Given the description of an element on the screen output the (x, y) to click on. 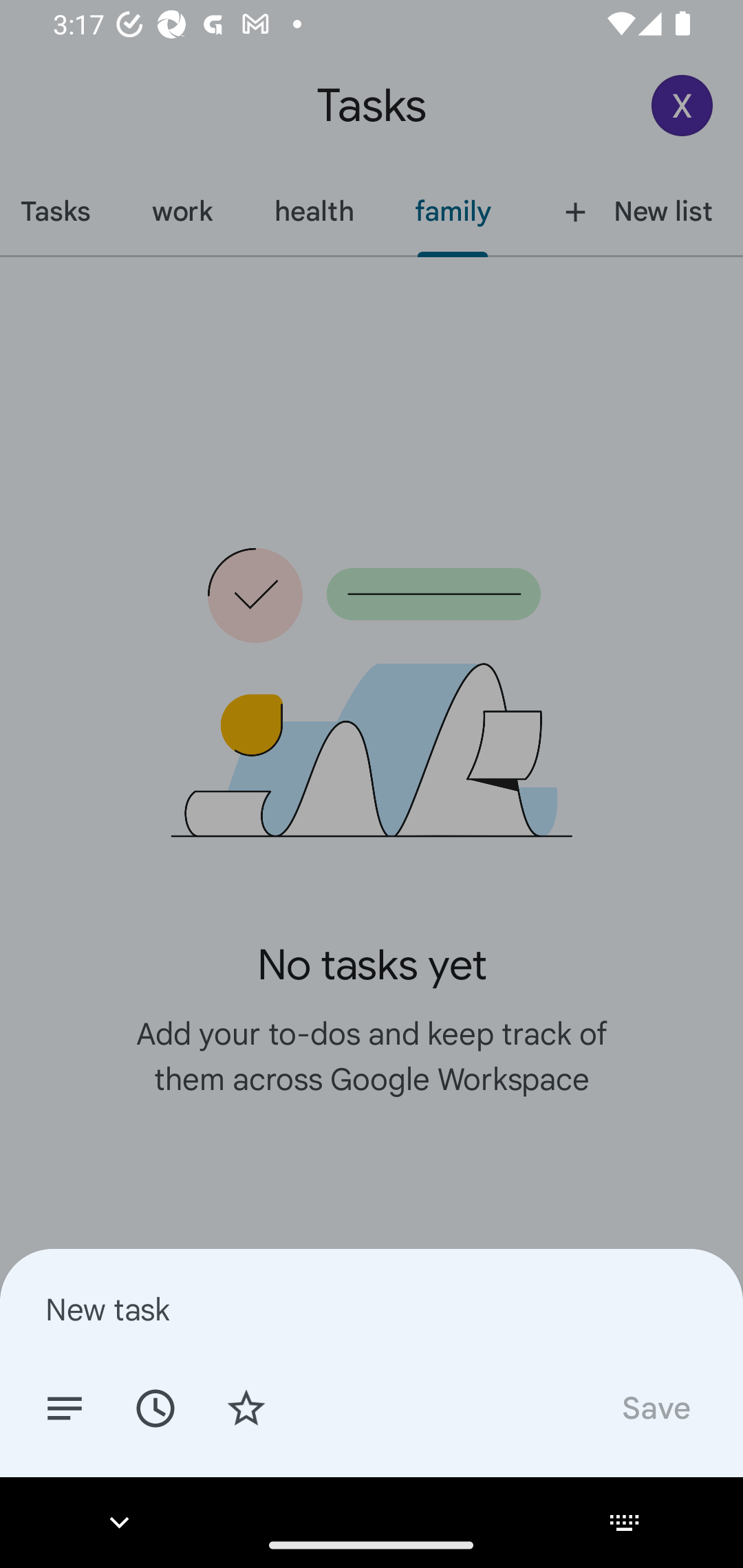
New task (371, 1308)
Save (655, 1407)
Add details (64, 1407)
Set date/time (154, 1407)
Add star (245, 1407)
